Given the description of an element on the screen output the (x, y) to click on. 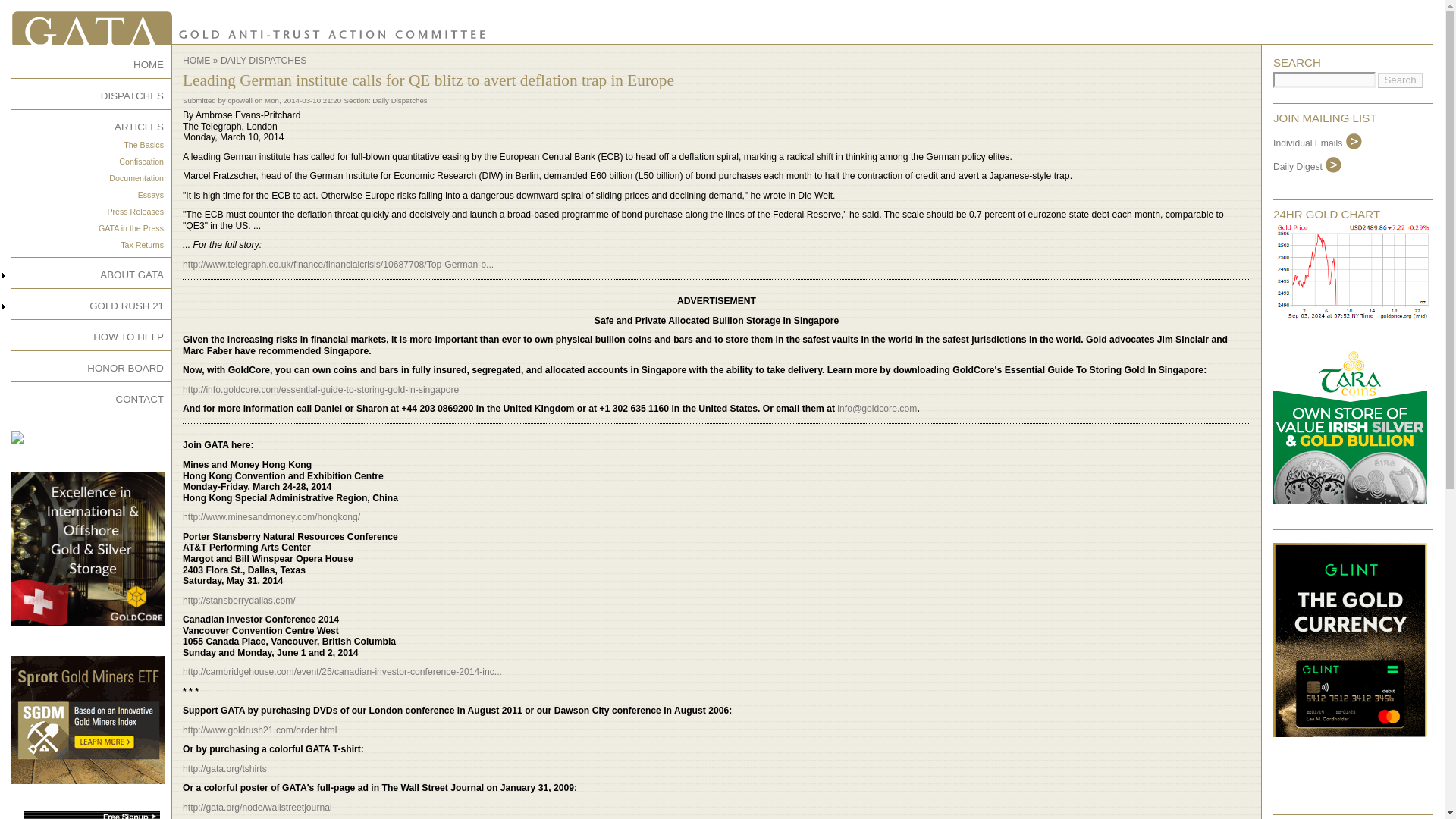
The Basics (143, 144)
HOW TO HELP (128, 337)
Documentation (136, 177)
Essays (150, 194)
Enter the terms you wish to search for. (1323, 79)
HONOR BOARD (125, 367)
DAILY DISPATCHES (263, 60)
HOME (196, 60)
Confiscation (141, 161)
CONTACT (139, 398)
